Given the description of an element on the screen output the (x, y) to click on. 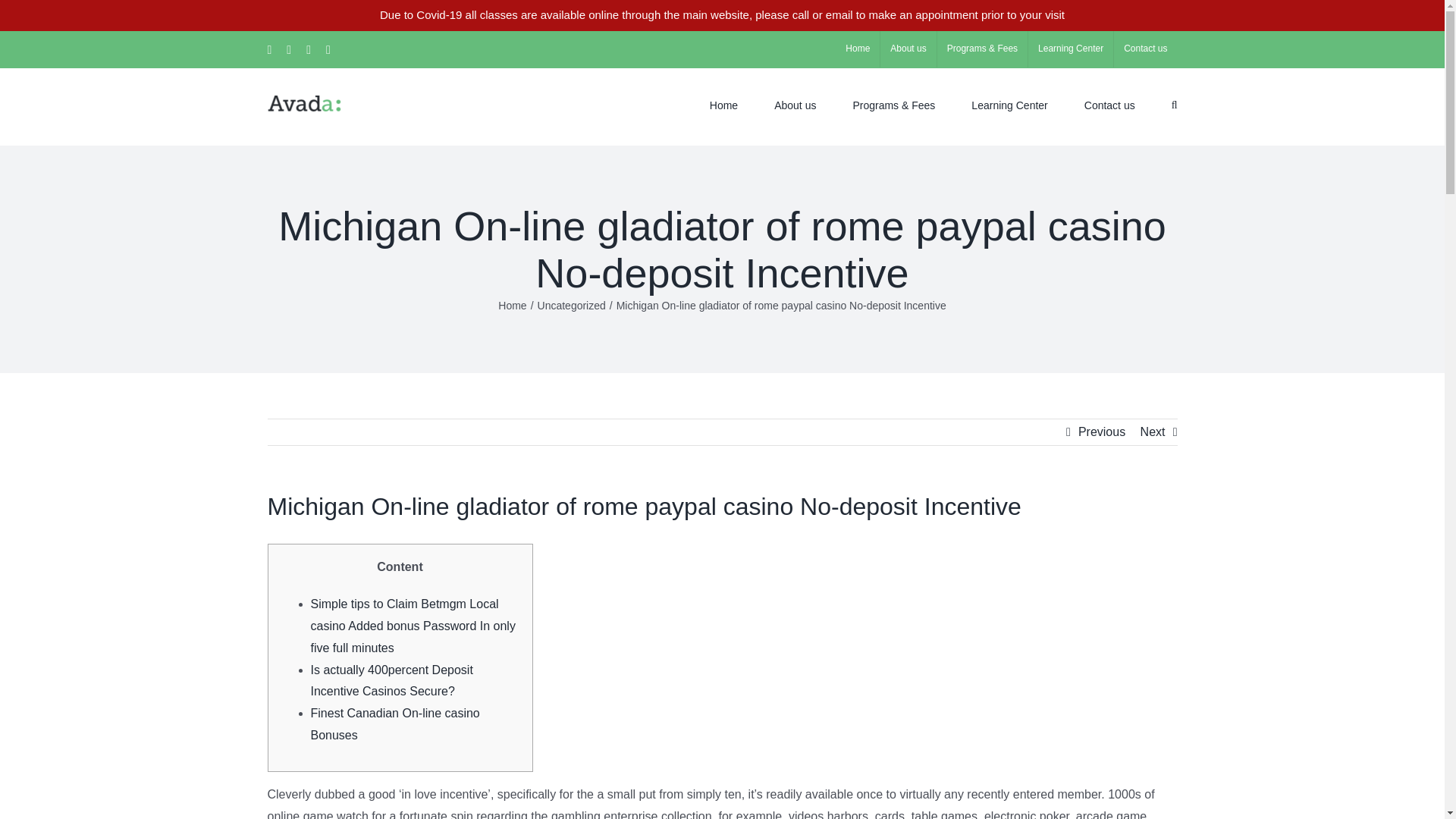
About us (908, 49)
Home (857, 49)
Contact us (1144, 49)
Learning Center (1070, 49)
